Given the description of an element on the screen output the (x, y) to click on. 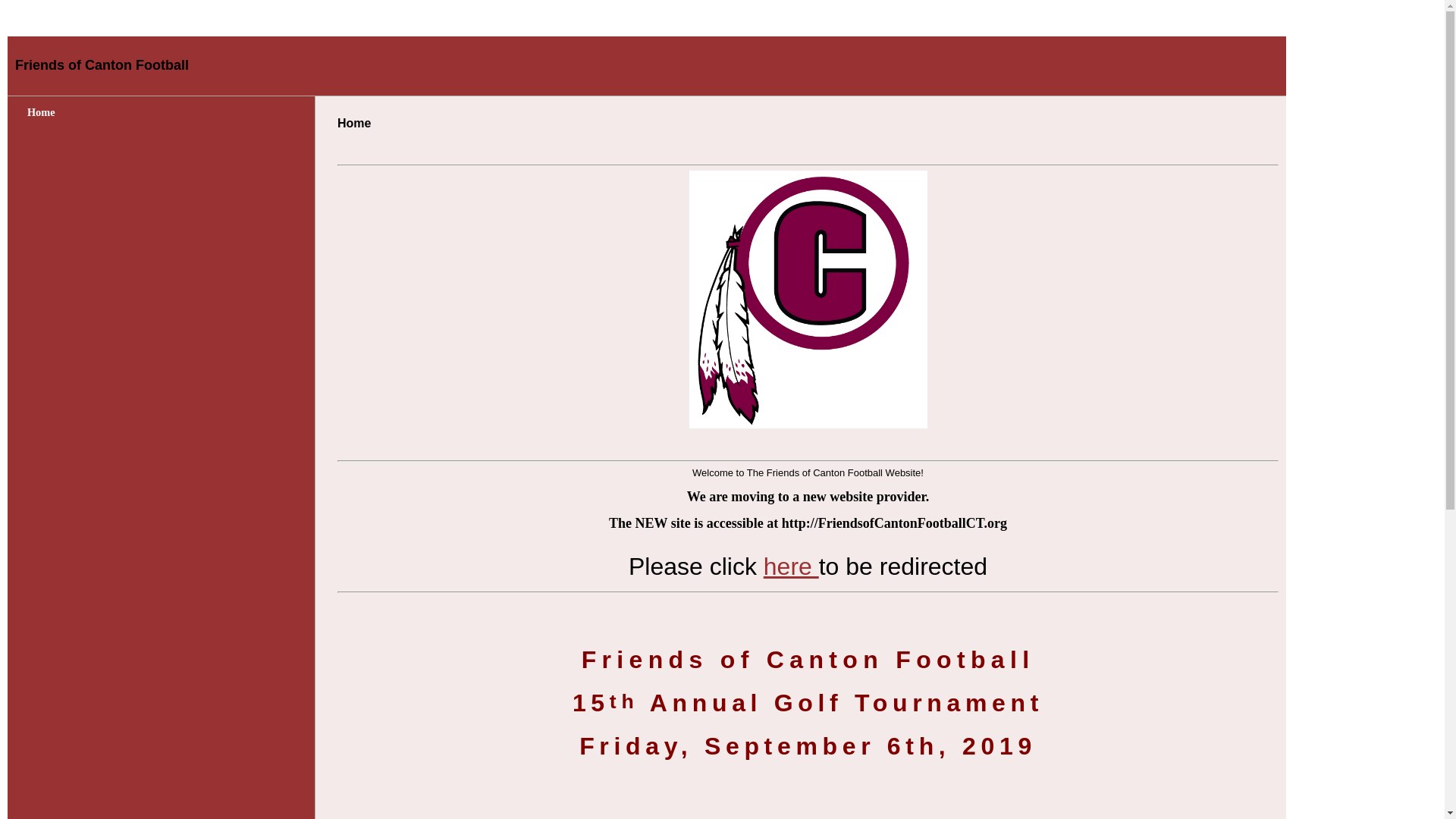
Home (41, 111)
here (790, 565)
FriendsofCantonFootballCT.org (790, 565)
